Given the description of an element on the screen output the (x, y) to click on. 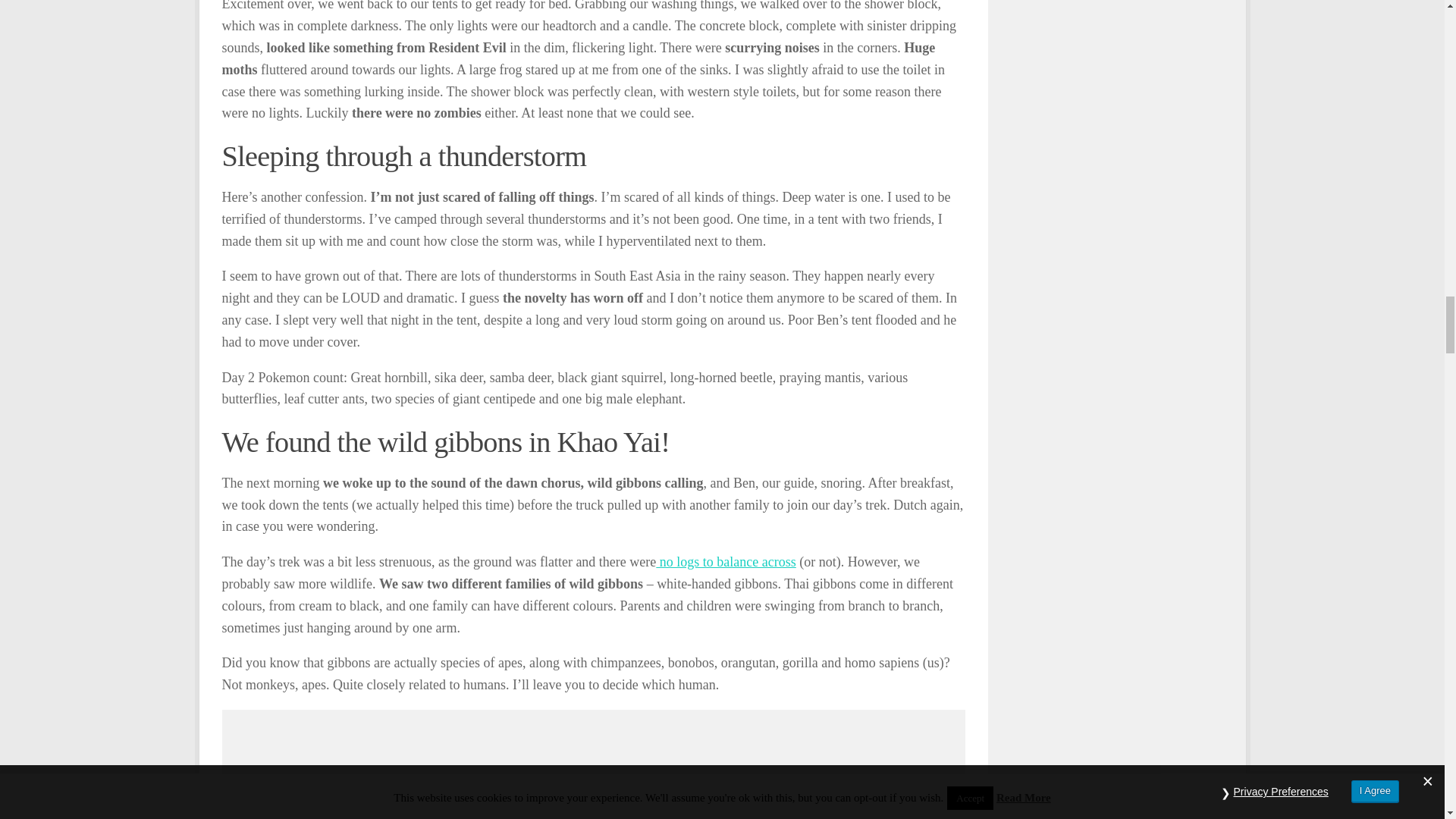
no logs to balance across (725, 561)
